Given the description of an element on the screen output the (x, y) to click on. 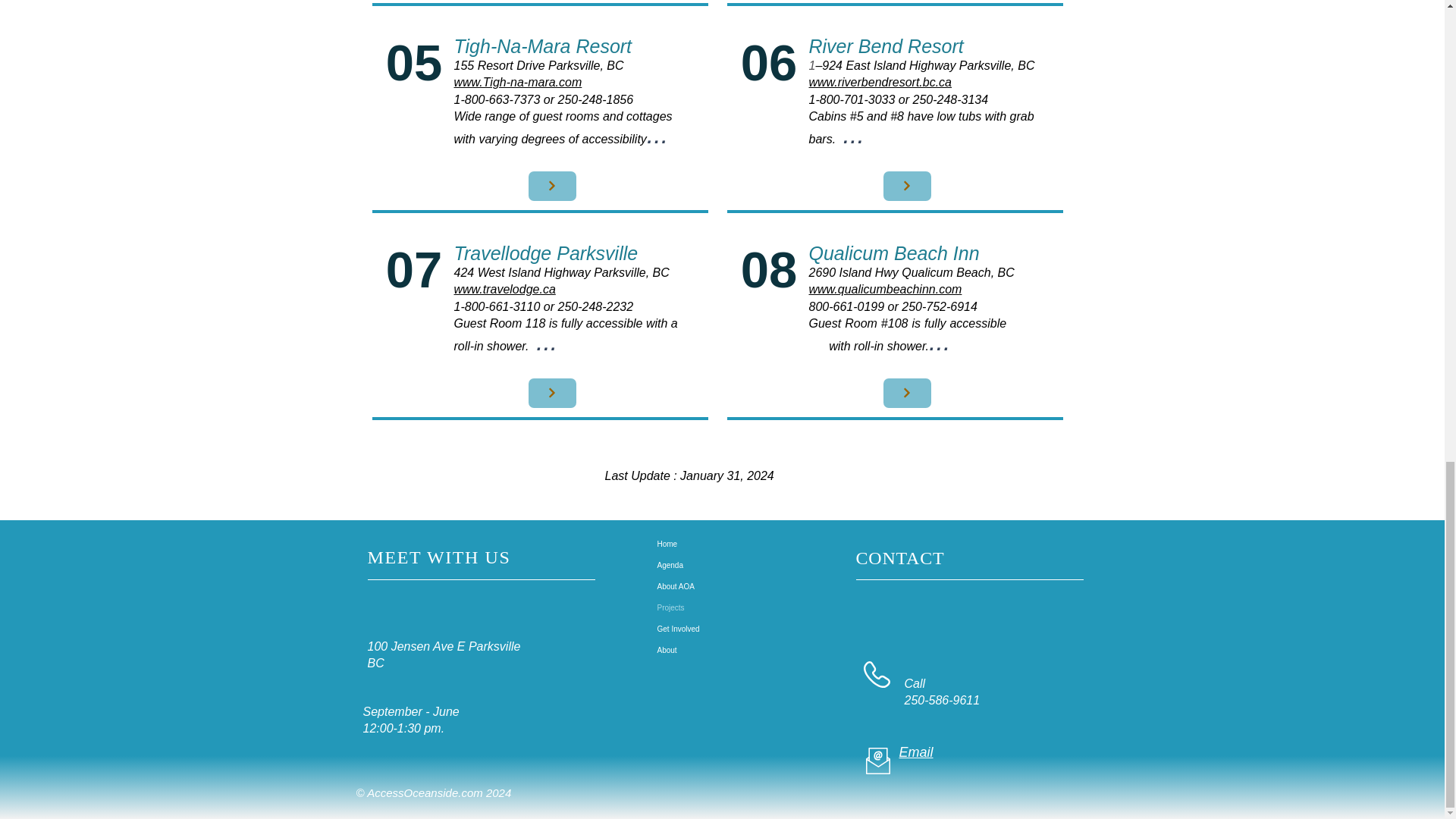
www.qualicumbeachinn.com (884, 288)
www.travelodge.ca (503, 288)
Home (709, 544)
www.Tigh-na-mara.com (516, 82)
Agenda (709, 565)
About AOA (709, 586)
www.riverbendresort.bc.ca (880, 82)
Projects (709, 608)
